Given the description of an element on the screen output the (x, y) to click on. 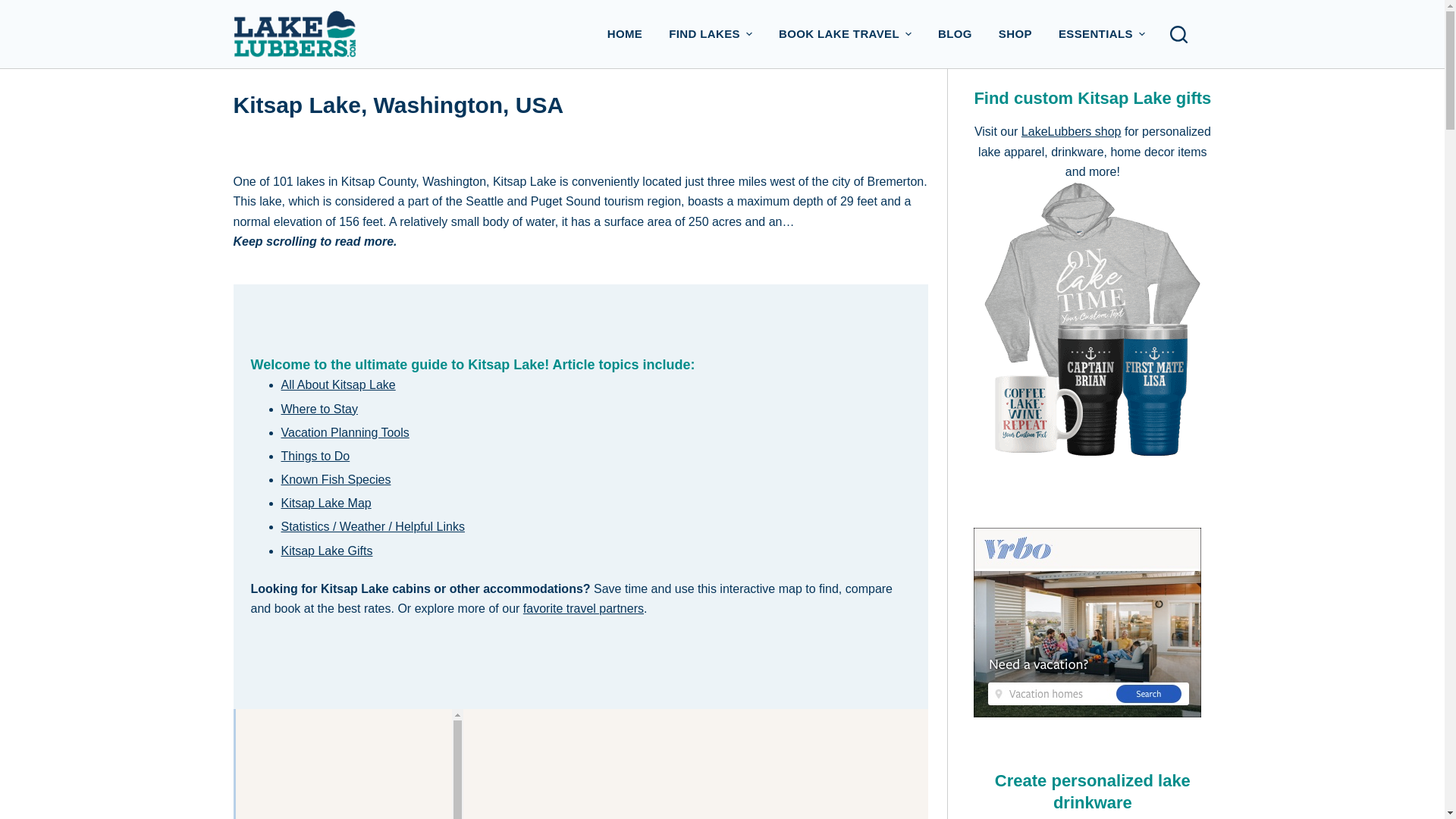
HOME (625, 33)
BOOK LAKE TRAVEL (844, 33)
FIND LAKES (710, 33)
Skip to content (15, 7)
